Given the description of an element on the screen output the (x, y) to click on. 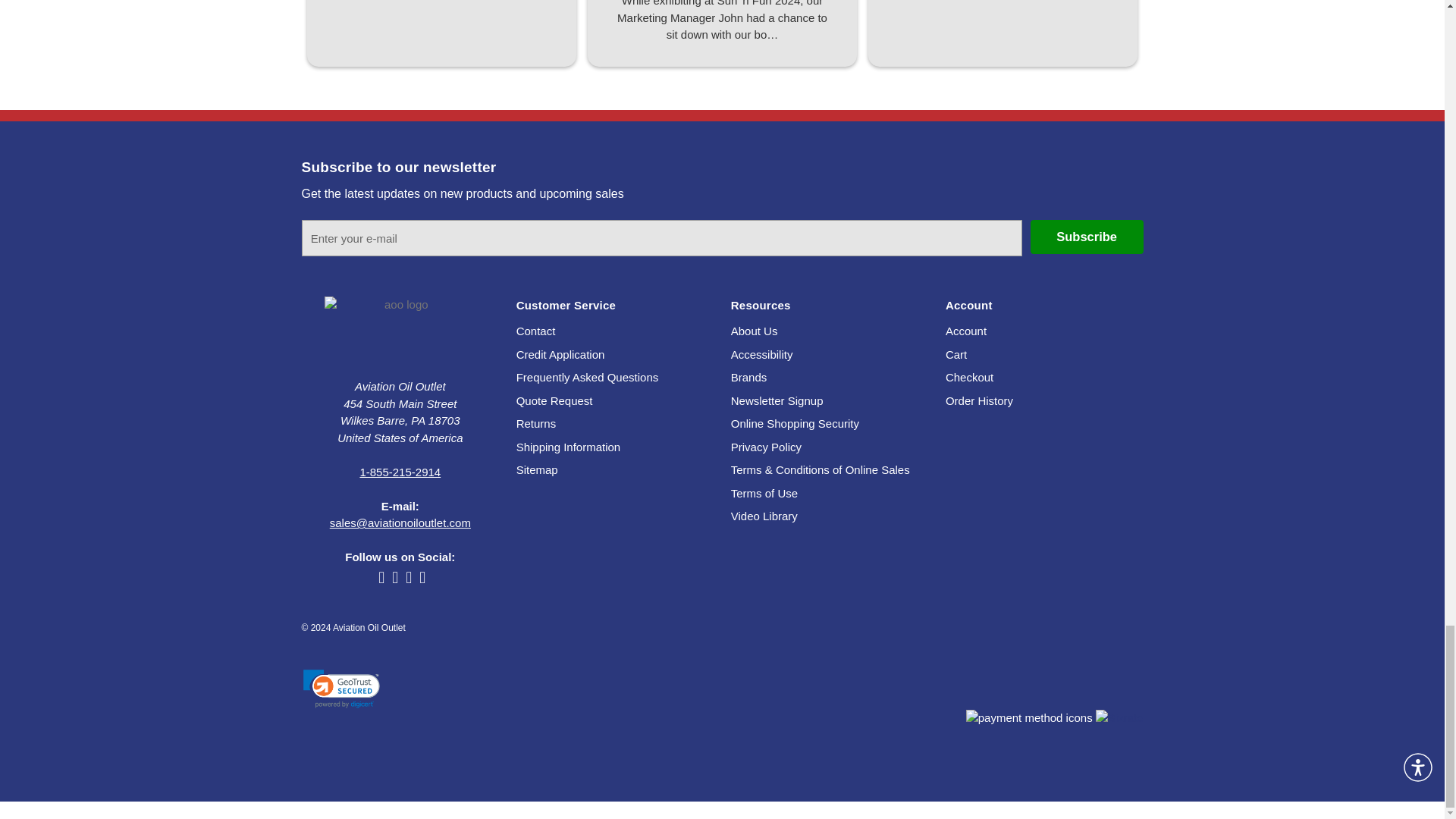
contact (536, 330)
brands (748, 377)
shipping information (568, 446)
about us (753, 330)
frequently asked questions (587, 377)
credit application (560, 354)
Subscribe (1086, 236)
accessibility (761, 354)
quote request (554, 400)
returns (536, 422)
